Given the description of an element on the screen output the (x, y) to click on. 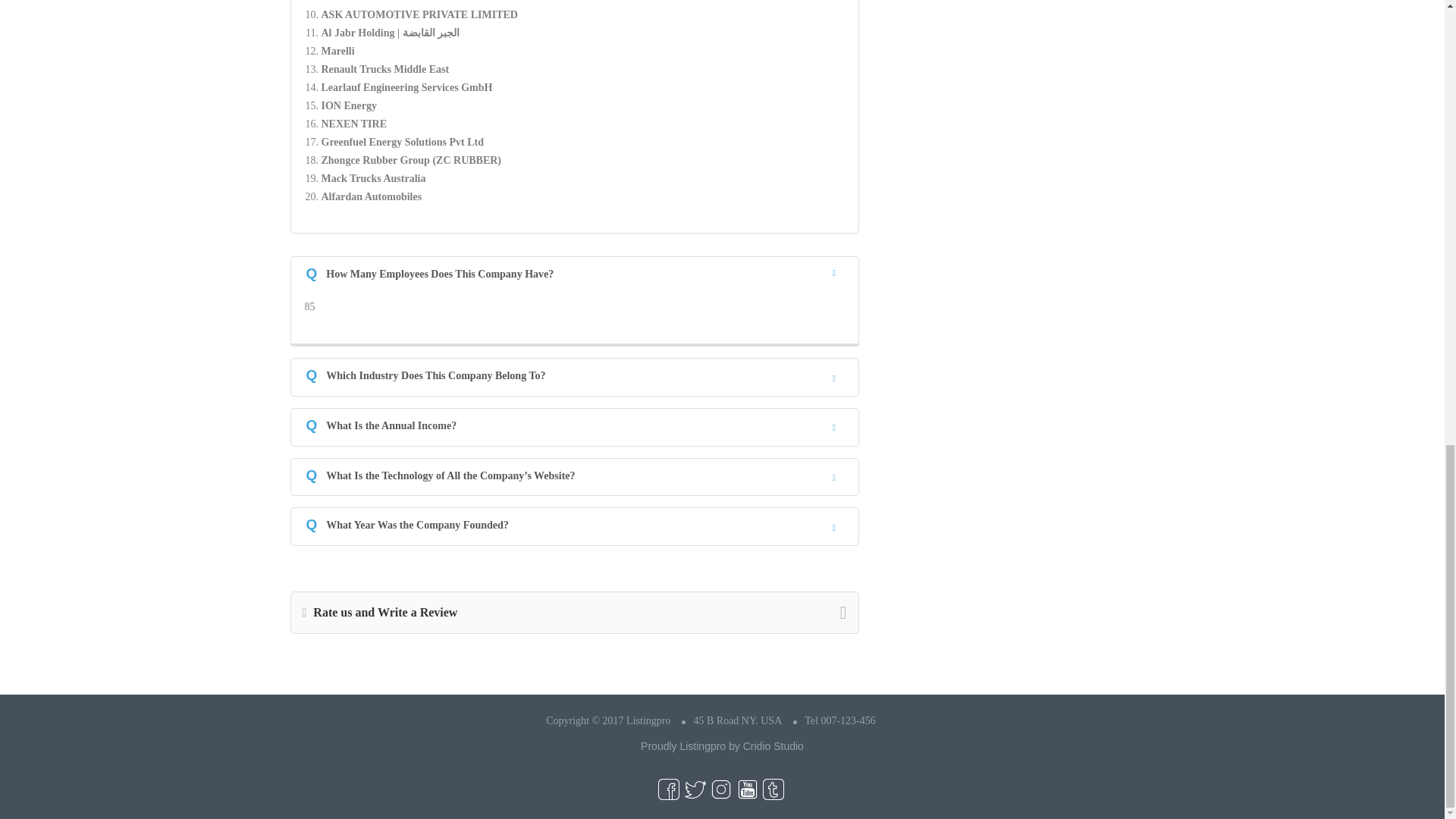
Marelli (338, 50)
Renault Trucks Middle East (385, 69)
Amaronofficial (355, 1)
ASK AUTOMOTIVE PRIVATE LIMITED (419, 14)
Renault Trucks Middle East (385, 69)
Marelli (338, 50)
Learlauf Engineering Services GmbH (407, 87)
Amaronofficial (355, 1)
Learlauf Engineering Services GmbH (407, 87)
ION Energy (349, 105)
ASK AUTOMOTIVE PRIVATE LIMITED (419, 14)
